Given the description of an element on the screen output the (x, y) to click on. 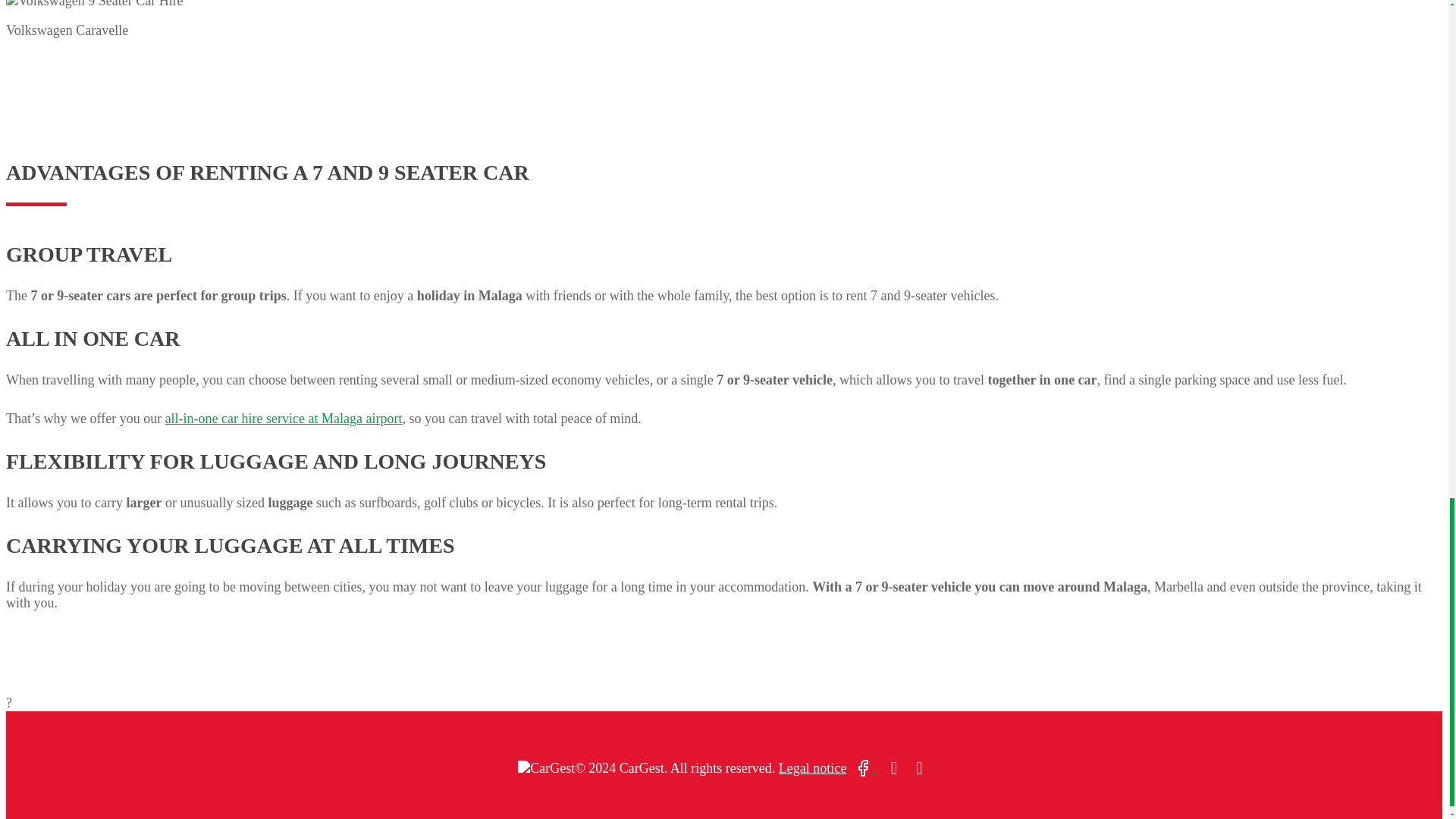
Twitter (919, 767)
Instagram (894, 767)
Legal notice (811, 767)
Facebook (864, 767)
All In One Car Hire Malaga Airport (284, 418)
all-in-one car hire service at Malaga airport (284, 418)
